Given the description of an element on the screen output the (x, y) to click on. 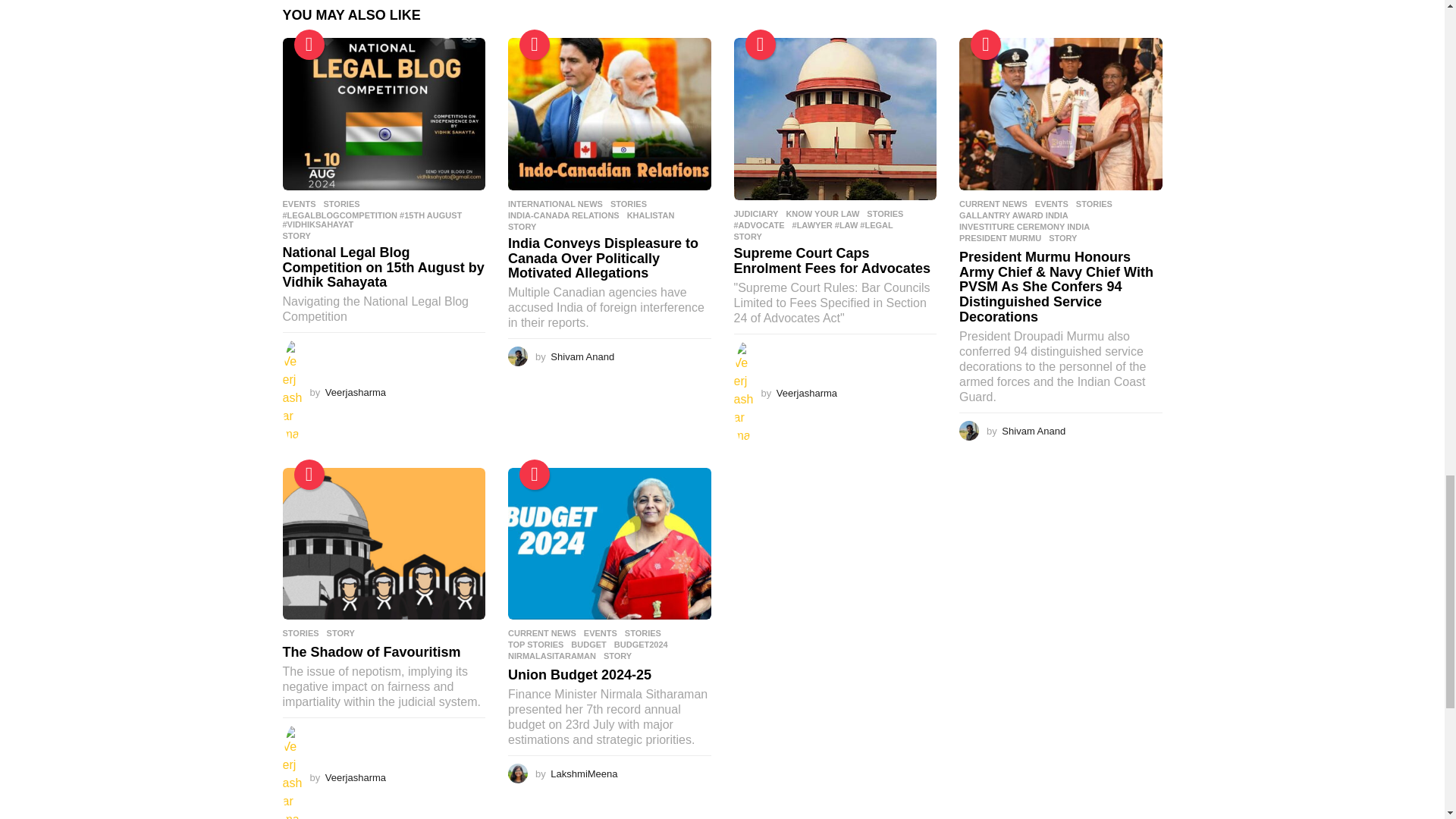
The Shadow of Favouritism (383, 543)
Union Budget 2024-25 (609, 543)
Popular (534, 474)
Hot (309, 474)
Supreme Court Caps Enrolment Fees for Advocates (835, 118)
Hot (759, 44)
Hot (986, 44)
Trending (309, 44)
Hot (534, 44)
